Given the description of an element on the screen output the (x, y) to click on. 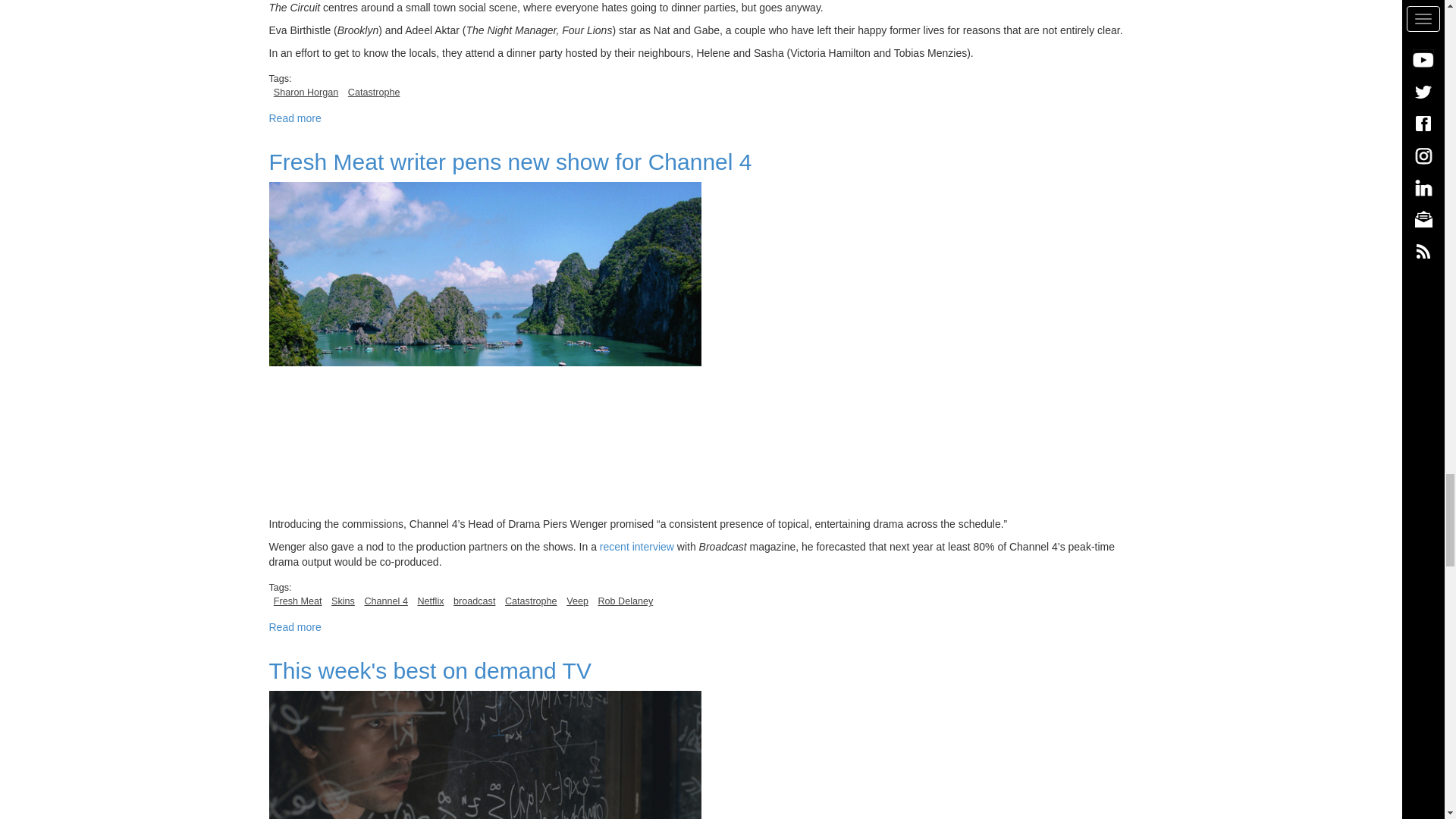
Pulling writers reunite for new sitcom (293, 118)
Fresh Meat writer pens new show for Channel 4 (293, 626)
Ben Whishaw as Danny in BBC Two's London Spy (483, 755)
